Given the description of an element on the screen output the (x, y) to click on. 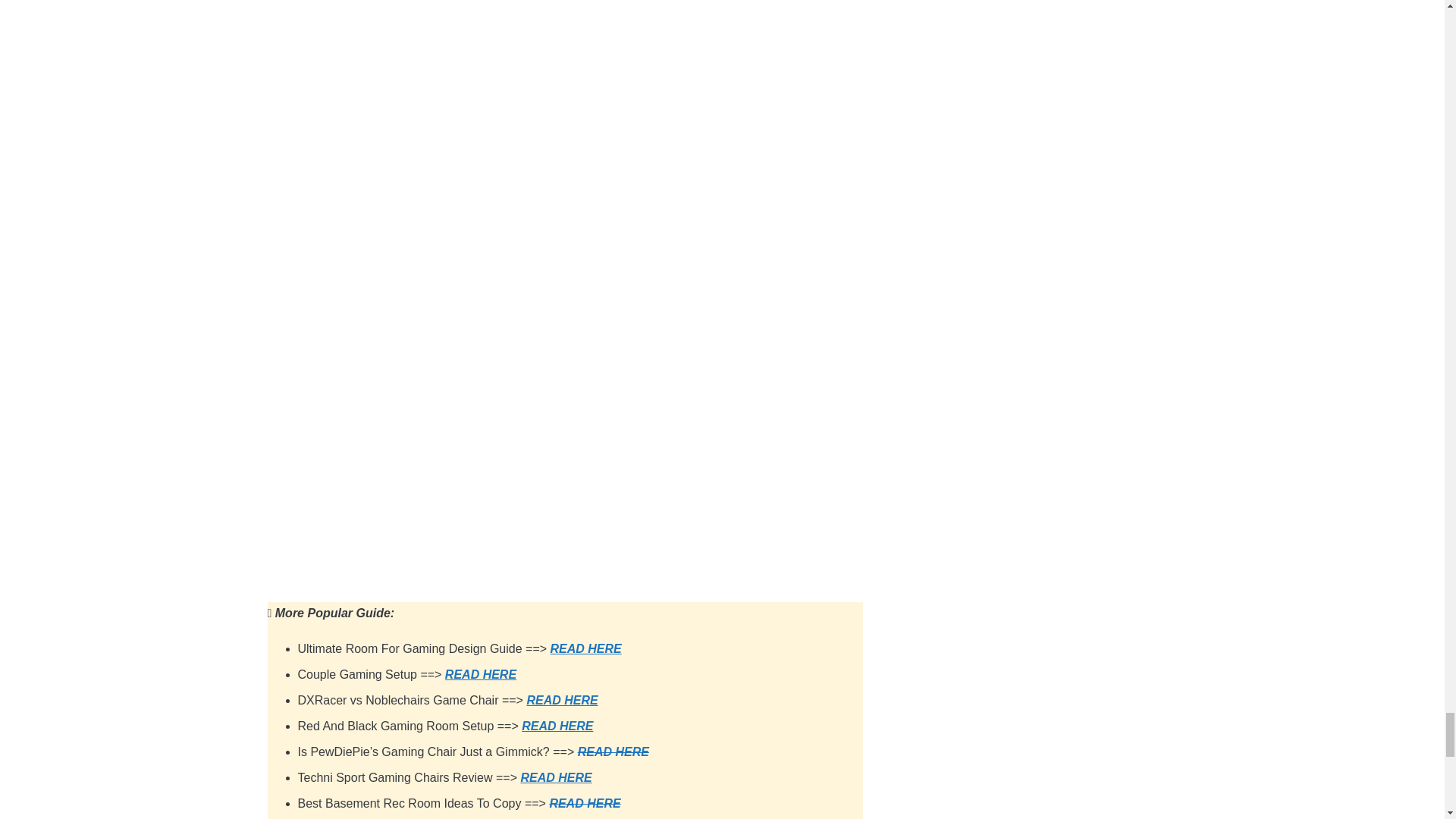
READ HERE (480, 674)
READ HERE (584, 802)
READ HERE (555, 777)
READ HERE (585, 648)
READ HERE (613, 751)
READ HERE (560, 699)
READ HERE (556, 725)
